Given the description of an element on the screen output the (x, y) to click on. 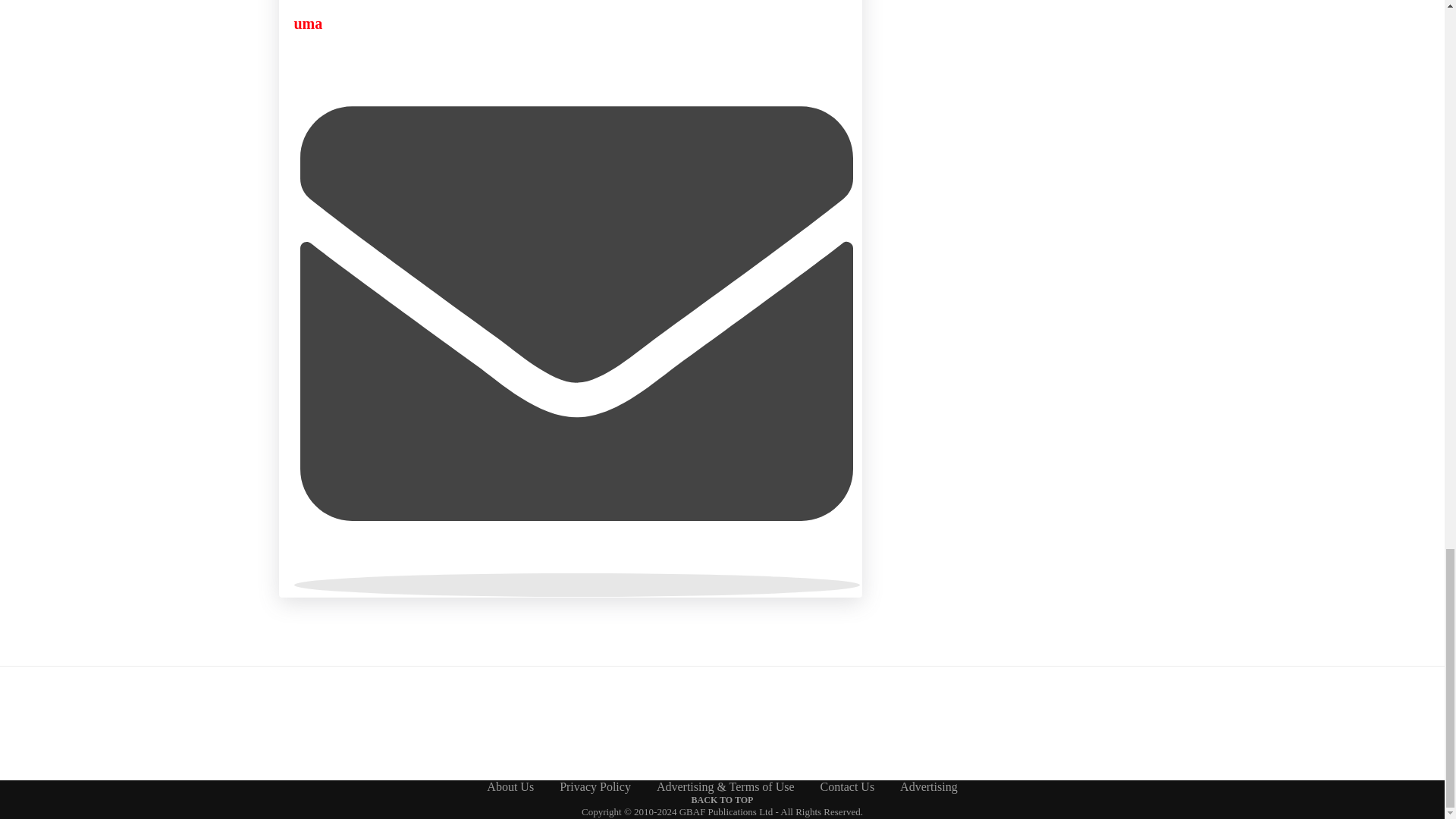
Advertising (928, 786)
Contact Us (848, 786)
uma (308, 23)
Privacy Policy (594, 786)
User email (577, 585)
About Us (510, 786)
BACK TO TOP (722, 798)
